Given the description of an element on the screen output the (x, y) to click on. 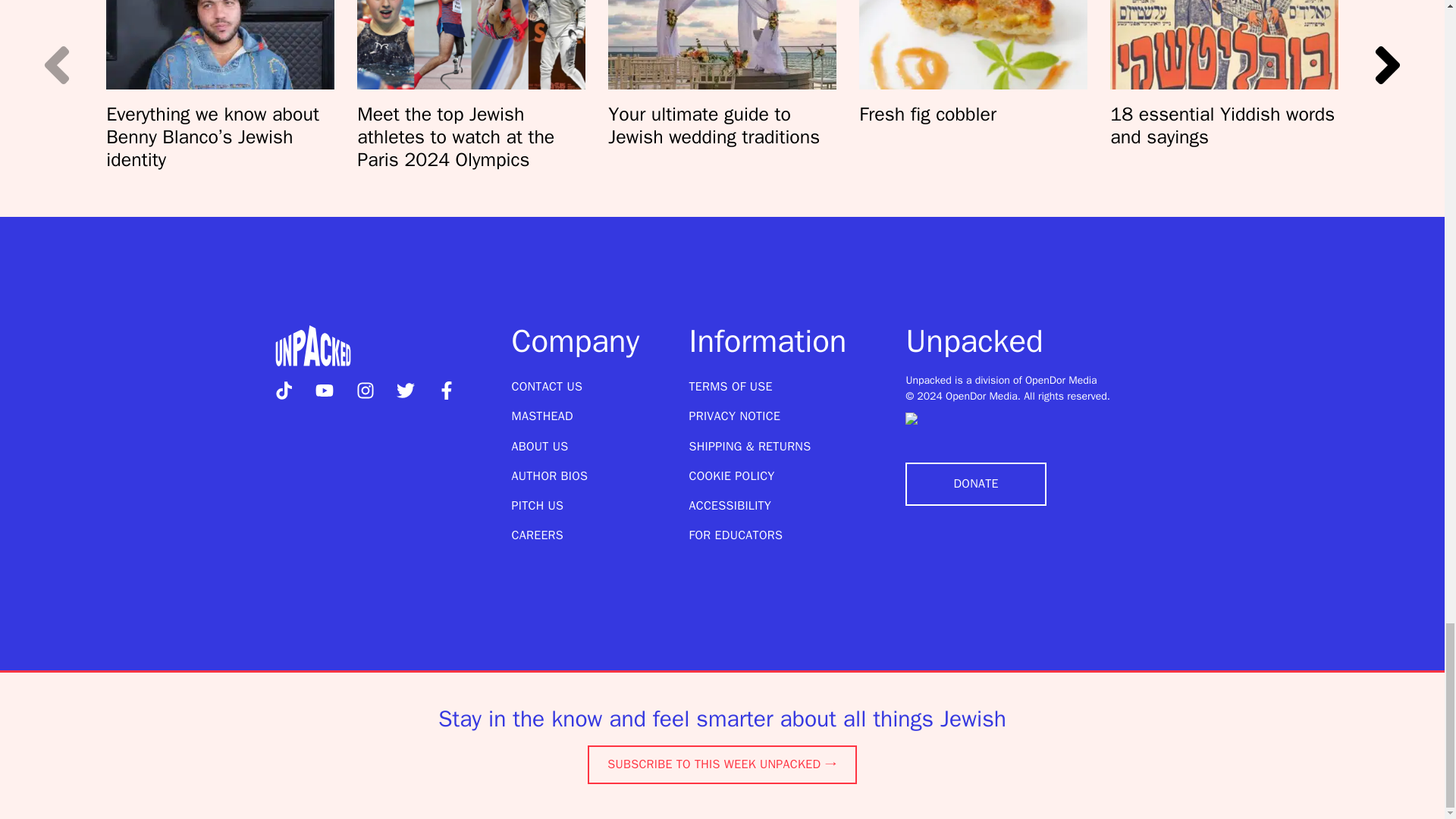
Everything we know about Benny Blanco's Jewish identity (220, 44)
Your ultimate guide to Jewish wedding traditions (721, 44)
